Given the description of an element on the screen output the (x, y) to click on. 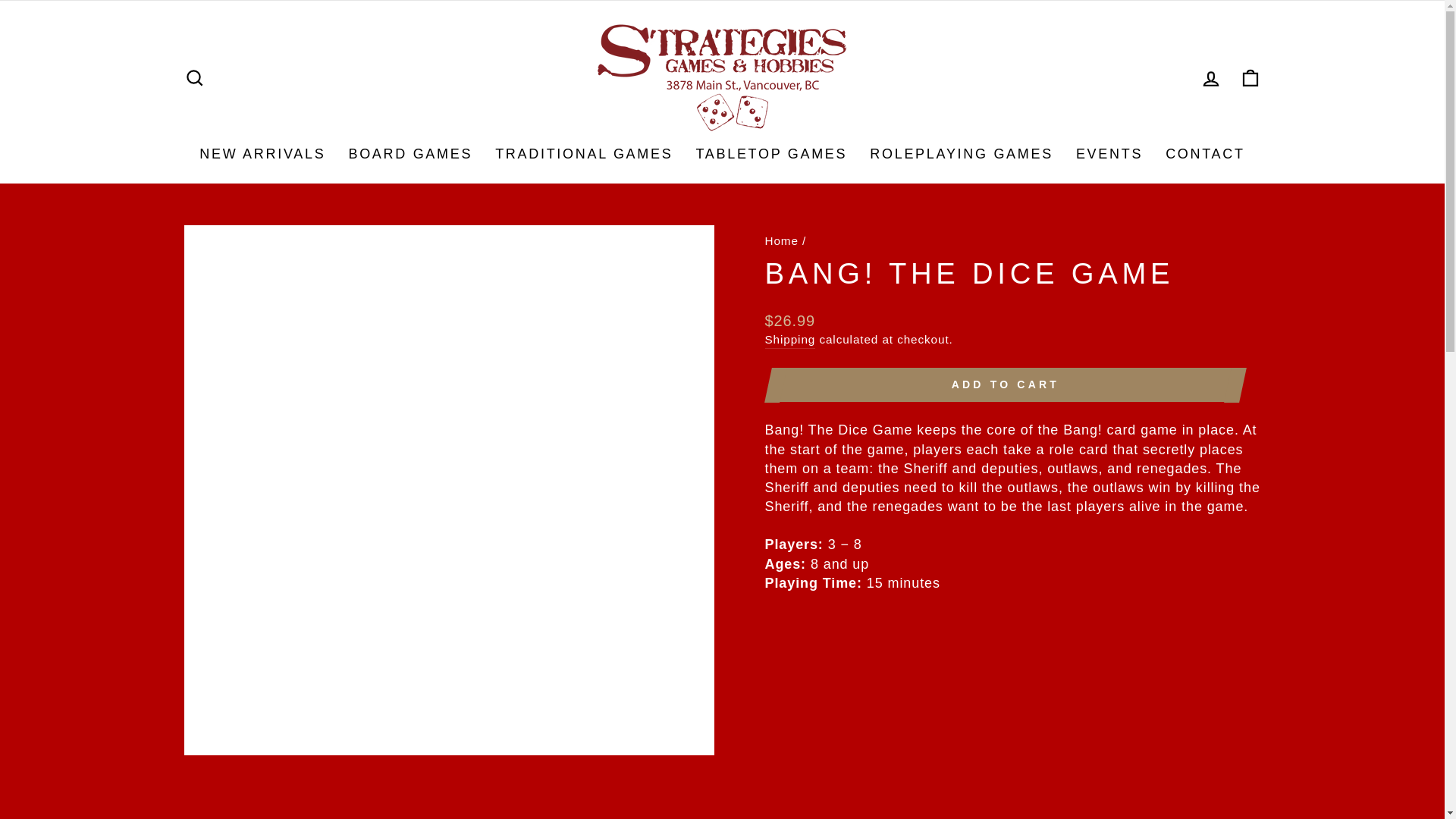
LOG IN (1210, 78)
Back to the frontpage (780, 240)
BOARD GAMES (409, 154)
CART (1249, 78)
NEW ARRIVALS (261, 154)
SEARCH (194, 78)
